Given the description of an element on the screen output the (x, y) to click on. 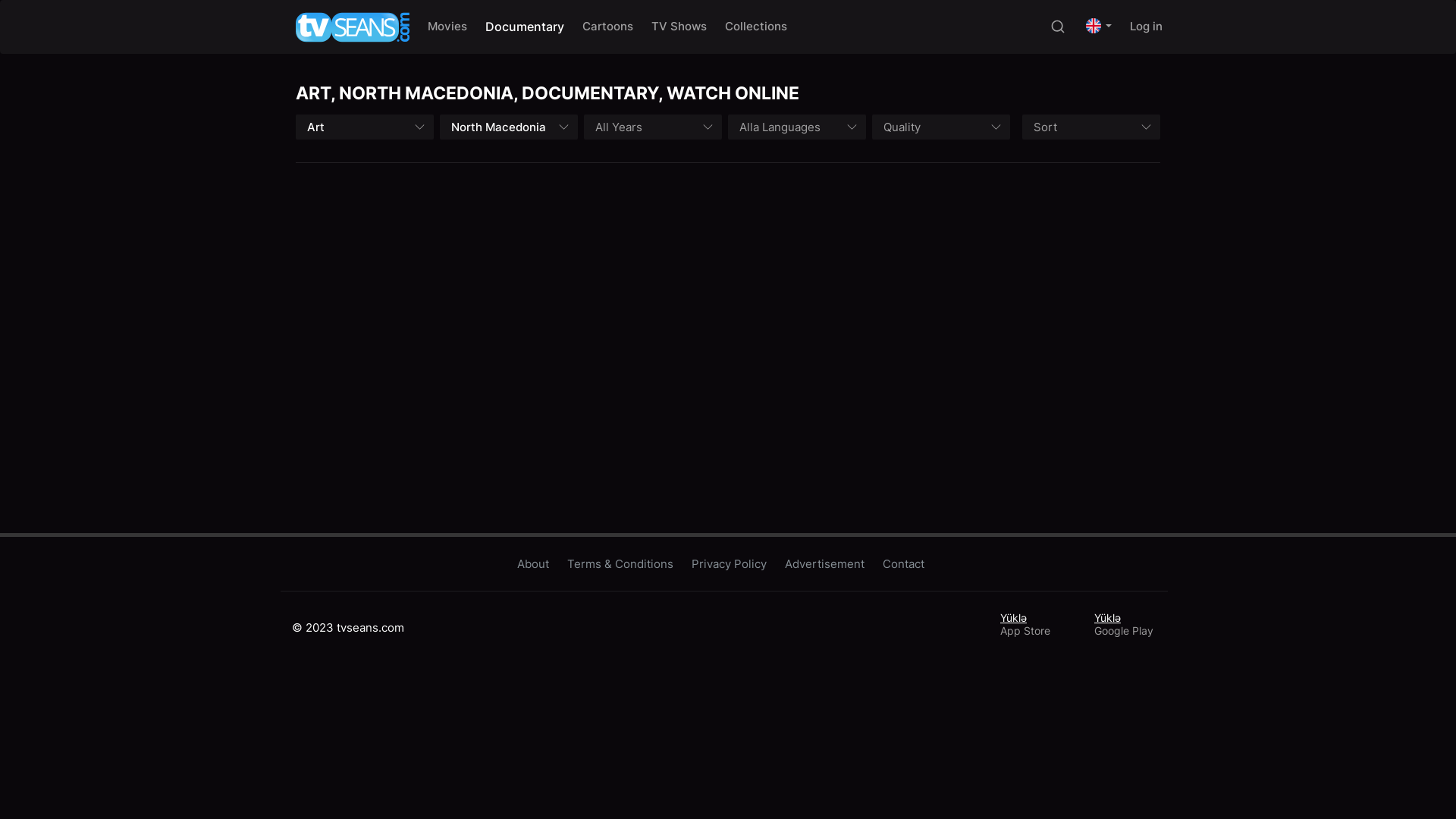
Collections Element type: text (755, 26)
Contact Element type: text (906, 563)
Advertisement Element type: text (827, 563)
Quality Element type: text (941, 126)
Movies Element type: text (447, 26)
TV Shows Element type: text (678, 26)
Privacy Policy Element type: text (732, 563)
Log in Element type: text (1145, 26)
All Years Element type: text (652, 126)
Sort Element type: text (1091, 126)
Alla Languages Element type: text (797, 126)
About Element type: text (536, 563)
North Macedonia Element type: text (508, 126)
Art Element type: text (364, 126)
Terms & Conditions Element type: text (623, 563)
Documentary Element type: text (524, 26)
Cartoons Element type: text (607, 26)
